Given the description of an element on the screen output the (x, y) to click on. 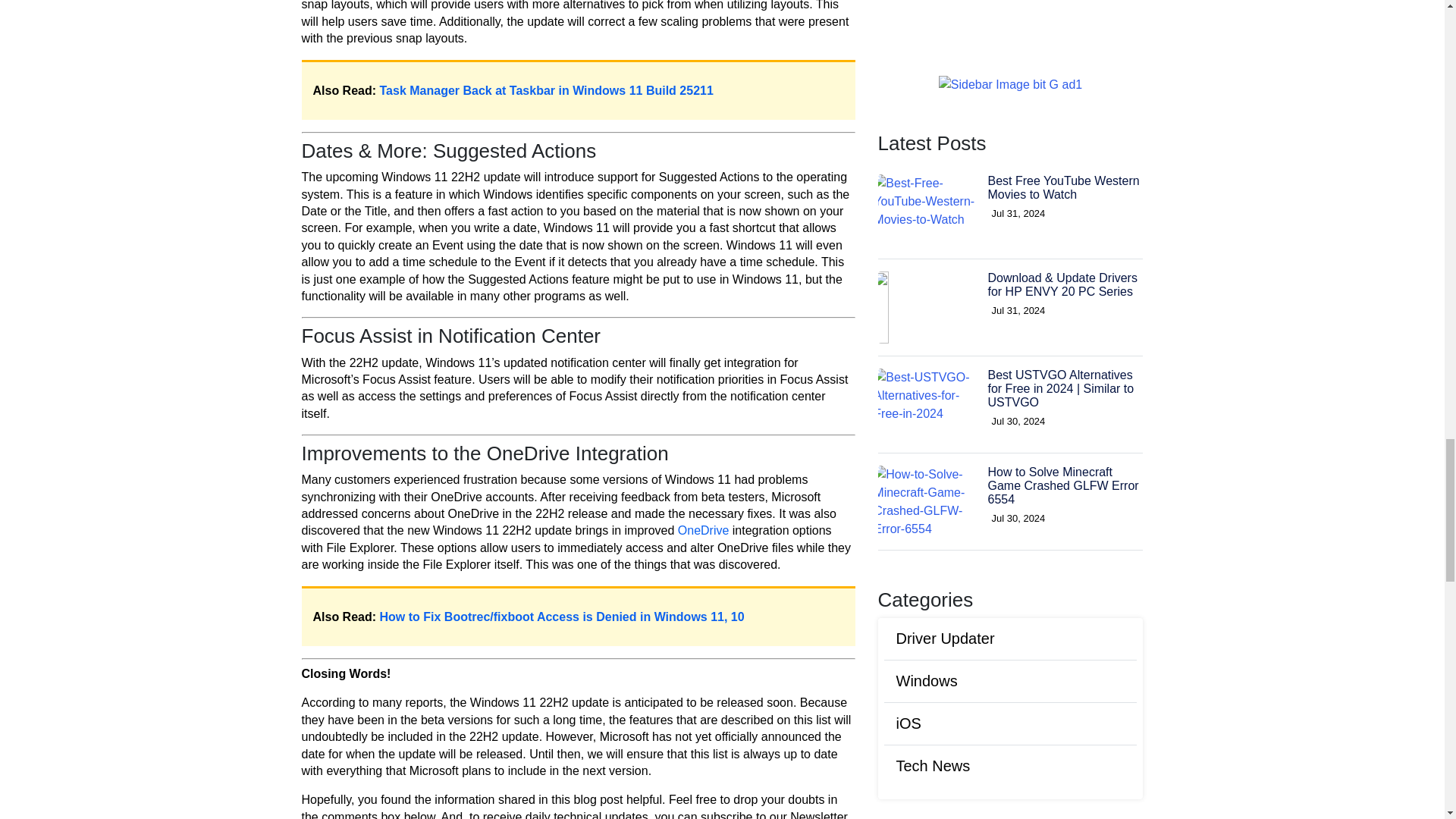
OneDrive (703, 530)
Task Manager Back at Taskbar in Windows 11 Build 25211 (546, 90)
